Given the description of an element on the screen output the (x, y) to click on. 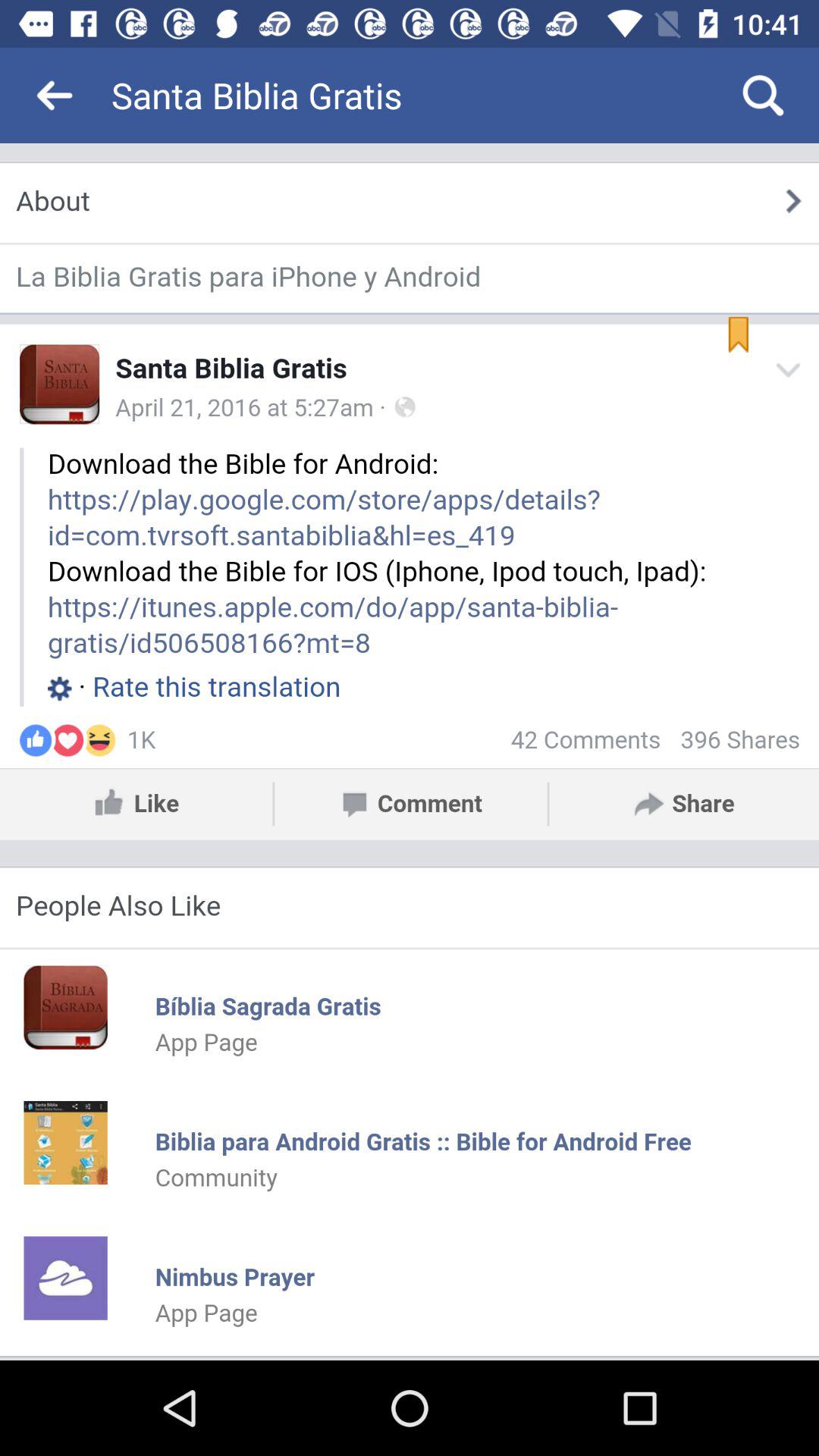
open the santa biblia gratis icon (393, 95)
